Given the description of an element on the screen output the (x, y) to click on. 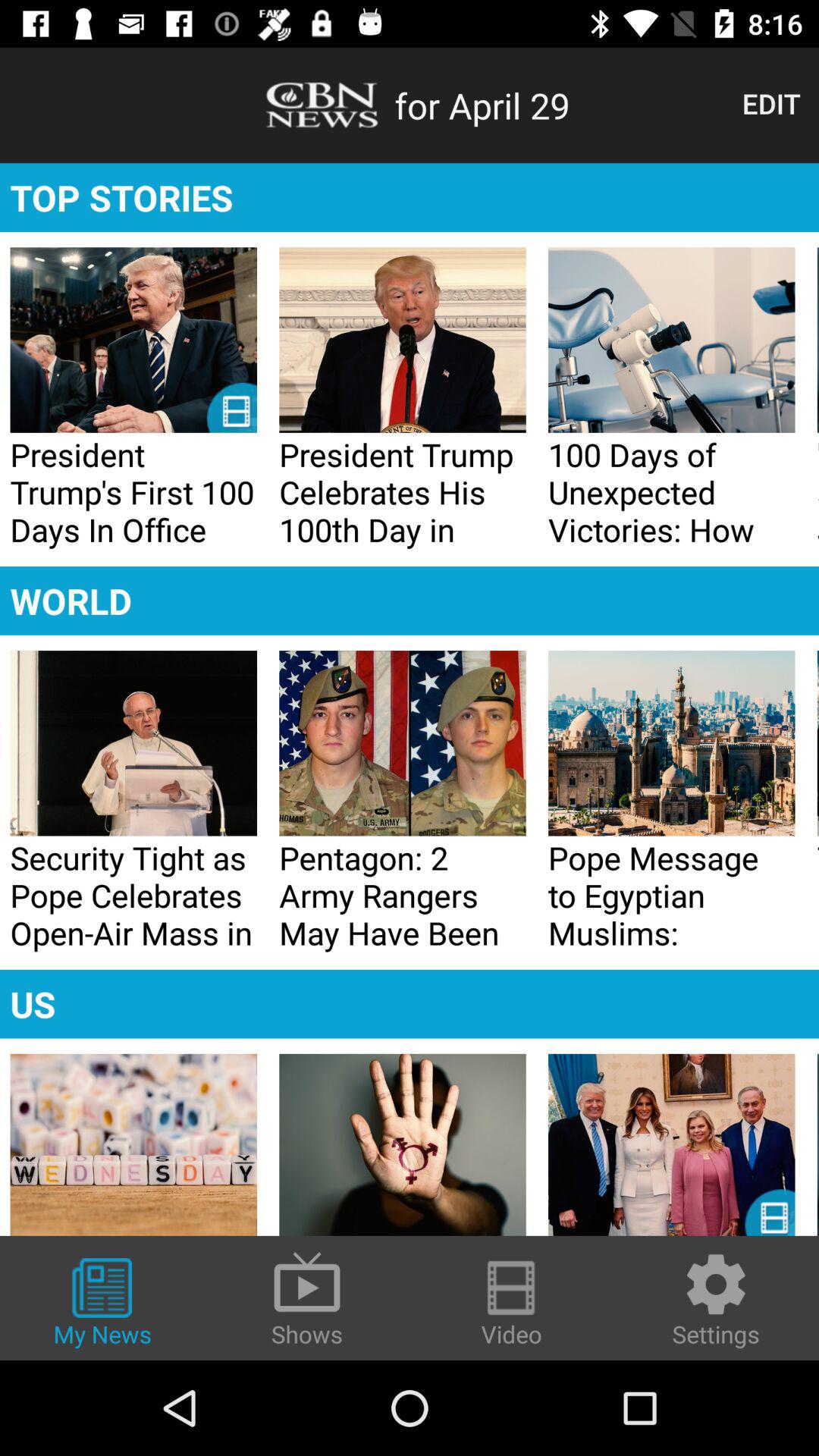
turn off the icon below the edit item (409, 197)
